Given the description of an element on the screen output the (x, y) to click on. 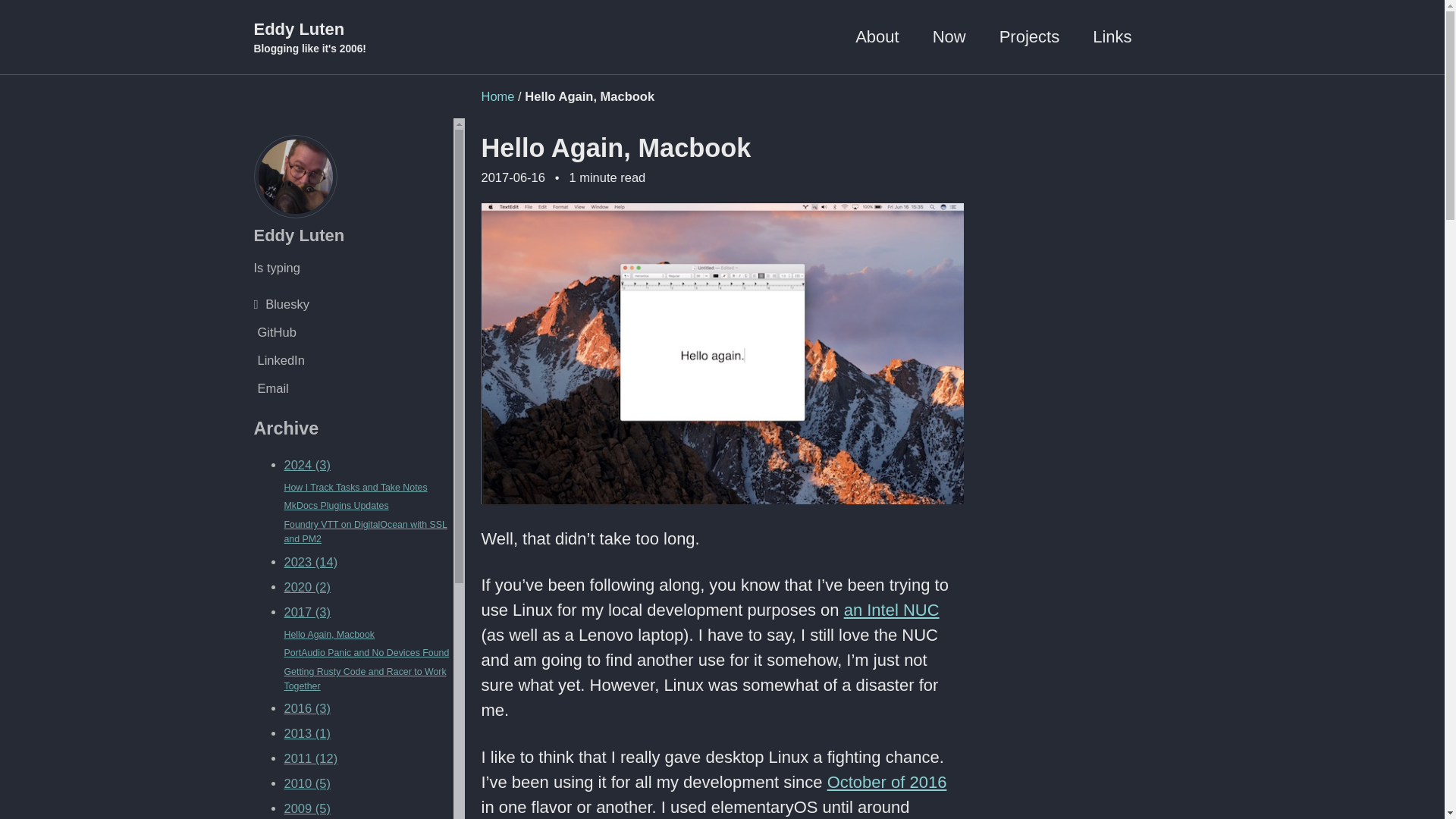
Posted on 2017-02-14 (364, 678)
Posted on 2017-06-16 (328, 634)
Projects (1028, 36)
Home (496, 96)
Posted on 2017-02-14 (365, 652)
How I Track Tasks and Take Notes (354, 487)
MkDocs Plugins Updates (335, 505)
GitHub (352, 332)
Posted on 2024-02-17 (354, 487)
LinkedIn (352, 360)
